Given the description of an element on the screen output the (x, y) to click on. 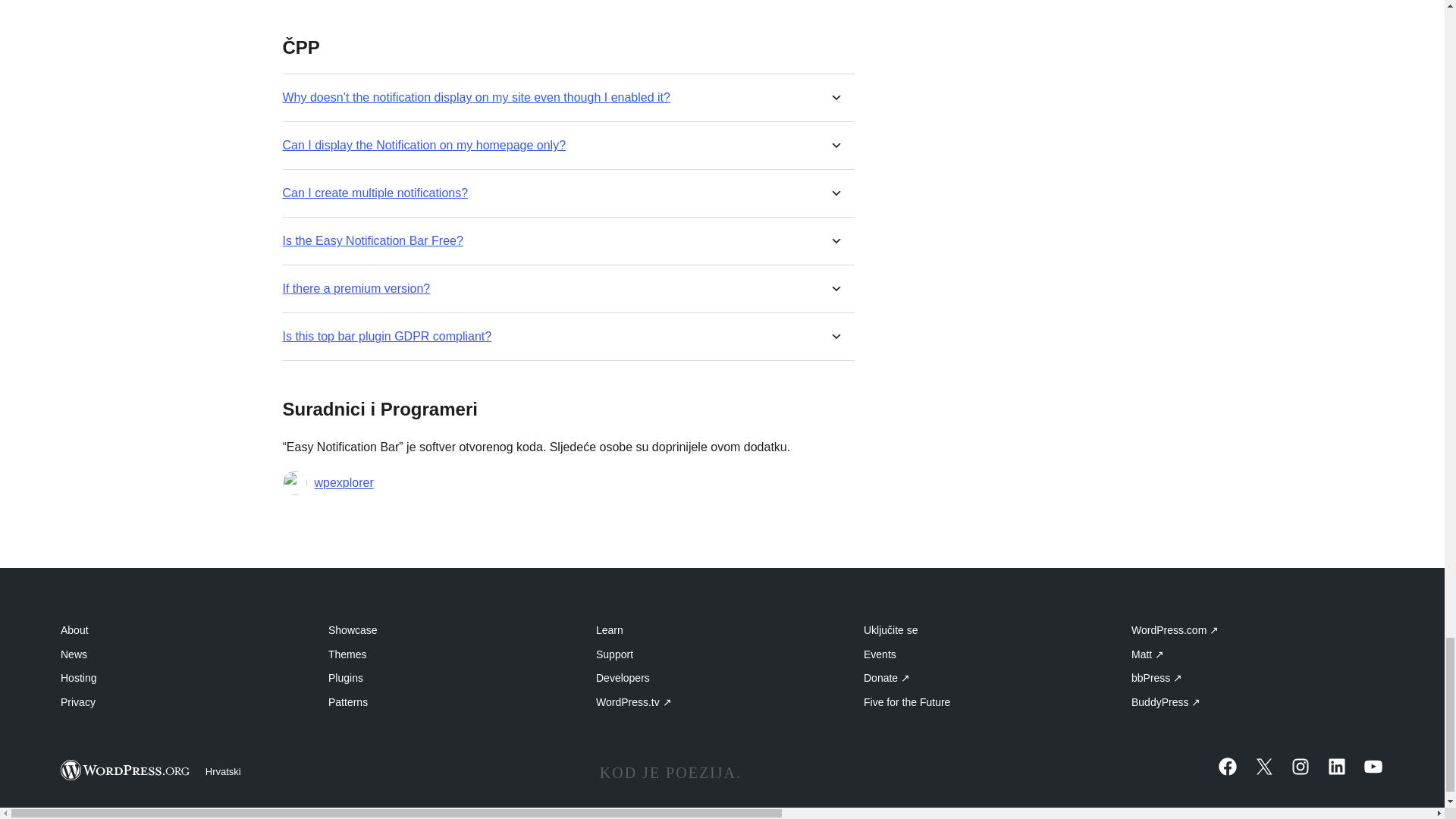
WordPress.org (125, 770)
